Given the description of an element on the screen output the (x, y) to click on. 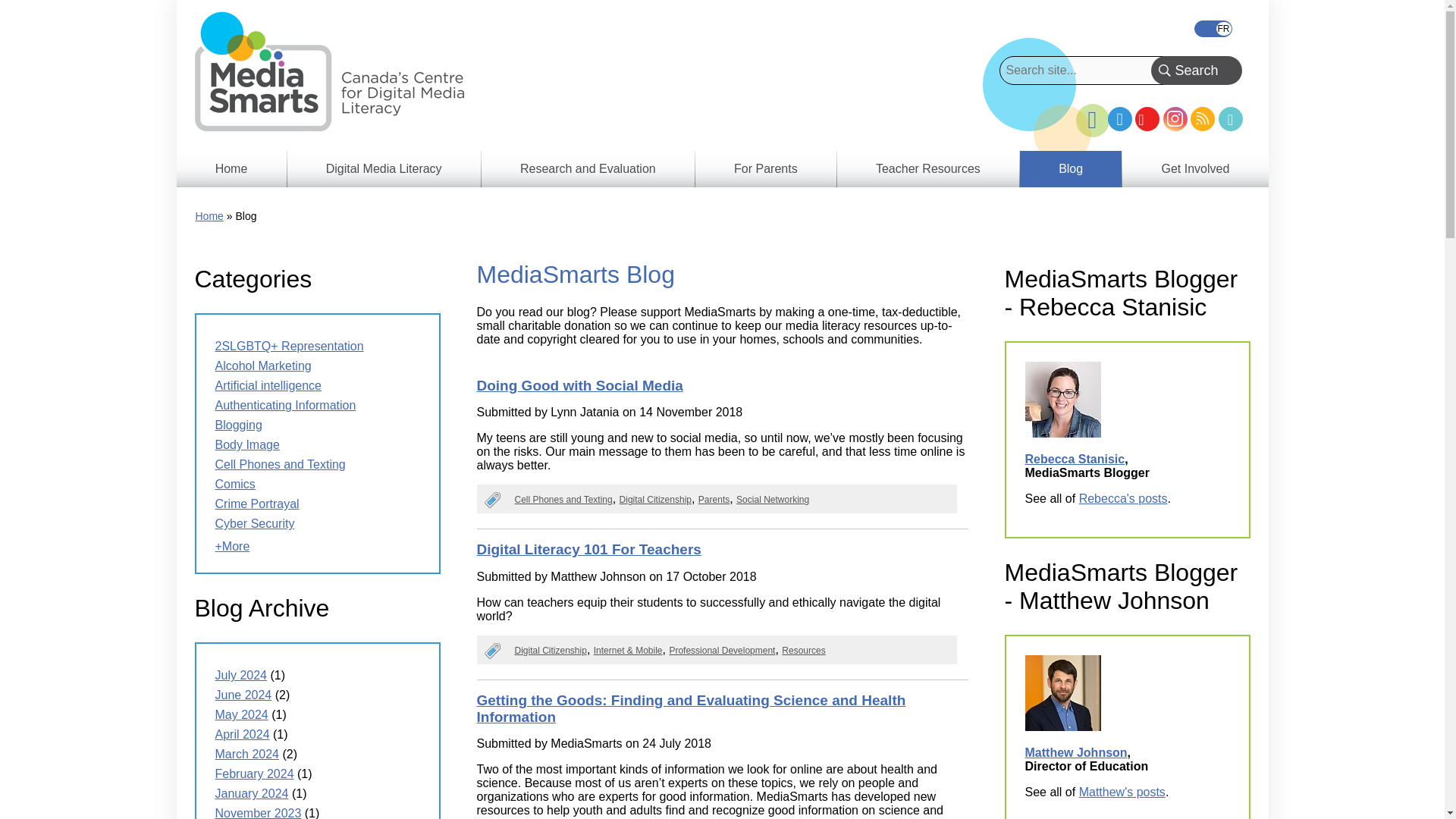
Home (230, 168)
Teacher Resources (928, 168)
Blog (1070, 168)
Research and Evaluation (587, 168)
For Parents (765, 168)
RSS (1202, 119)
Facebook (1091, 113)
Home (209, 215)
Search (1196, 70)
Digital Media Literacy (383, 168)
Get Involved (1195, 168)
Search (1196, 70)
YouTube (1146, 119)
Twitter (1120, 119)
Instagram (1175, 119)
